Given the description of an element on the screen output the (x, y) to click on. 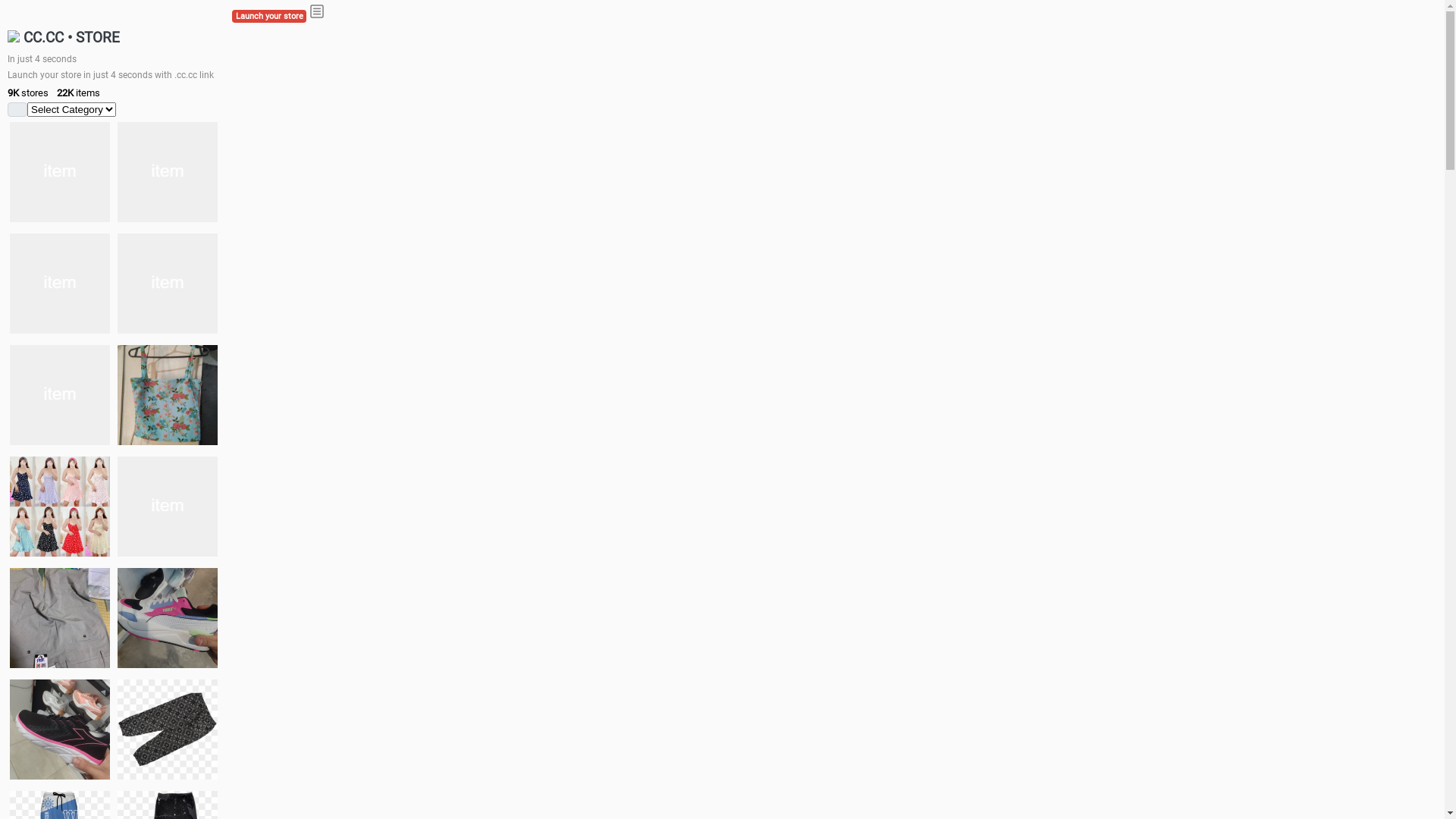
Shoes Element type: hover (167, 506)
Ukay cloth Element type: hover (167, 395)
white shoes Element type: hover (167, 172)
Shoes for boys Element type: hover (167, 283)
Short pant Element type: hover (167, 729)
Things we need Element type: hover (59, 395)
Dress/square nect top Element type: hover (59, 506)
shoes for boys Element type: hover (59, 283)
Zapatillas Element type: hover (59, 729)
Zapatillas pumas Element type: hover (167, 617)
jacket Element type: hover (59, 172)
Launch your store Element type: text (269, 15)
